Given the description of an element on the screen output the (x, y) to click on. 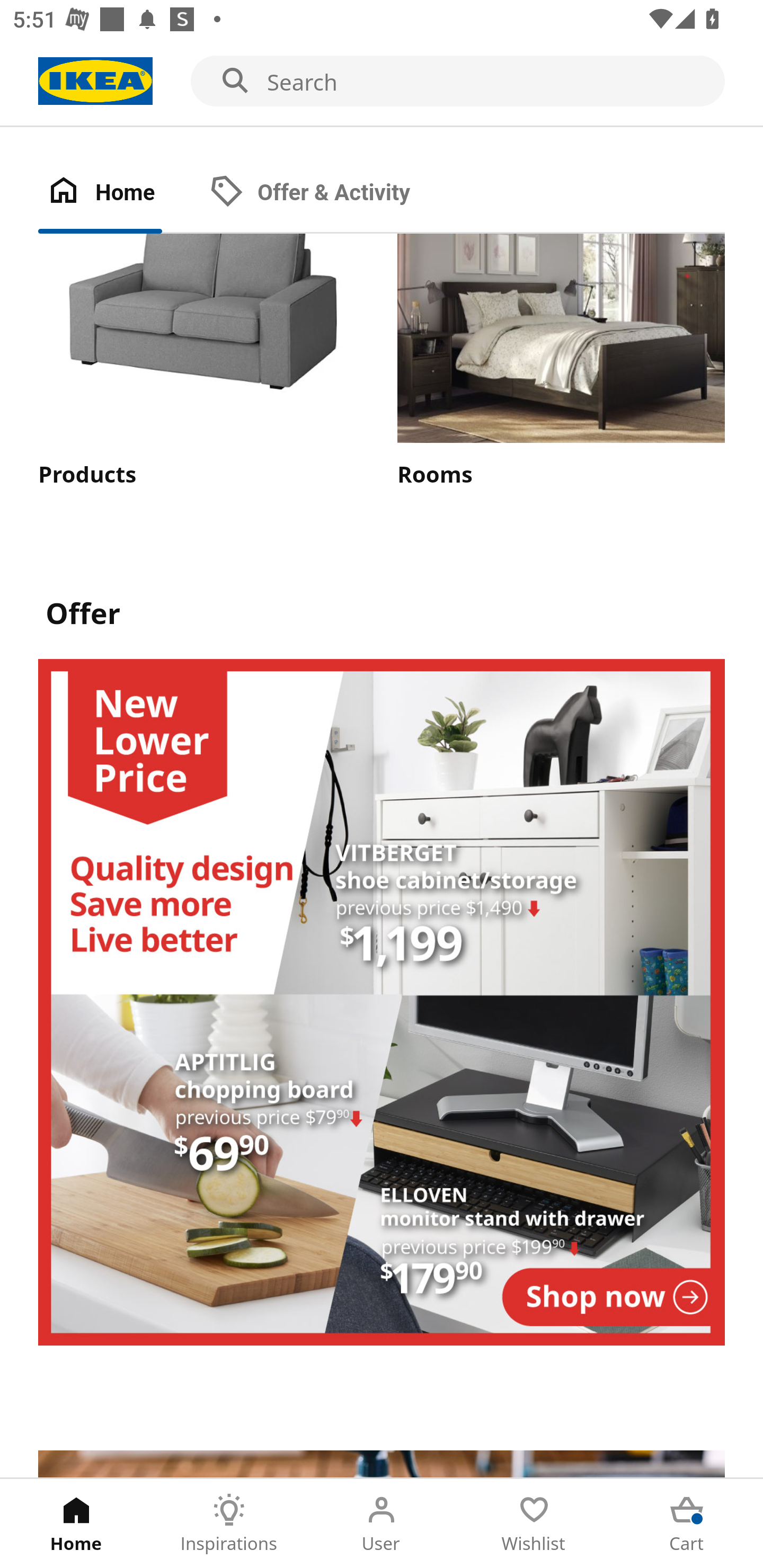
Search (381, 81)
Home
Tab 1 of 2 (118, 192)
Offer & Activity
Tab 2 of 2 (327, 192)
Products (201, 361)
Rooms (560, 361)
Home
Tab 1 of 5 (76, 1522)
Inspirations
Tab 2 of 5 (228, 1522)
User
Tab 3 of 5 (381, 1522)
Wishlist
Tab 4 of 5 (533, 1522)
Cart
Tab 5 of 5 (686, 1522)
